Given the description of an element on the screen output the (x, y) to click on. 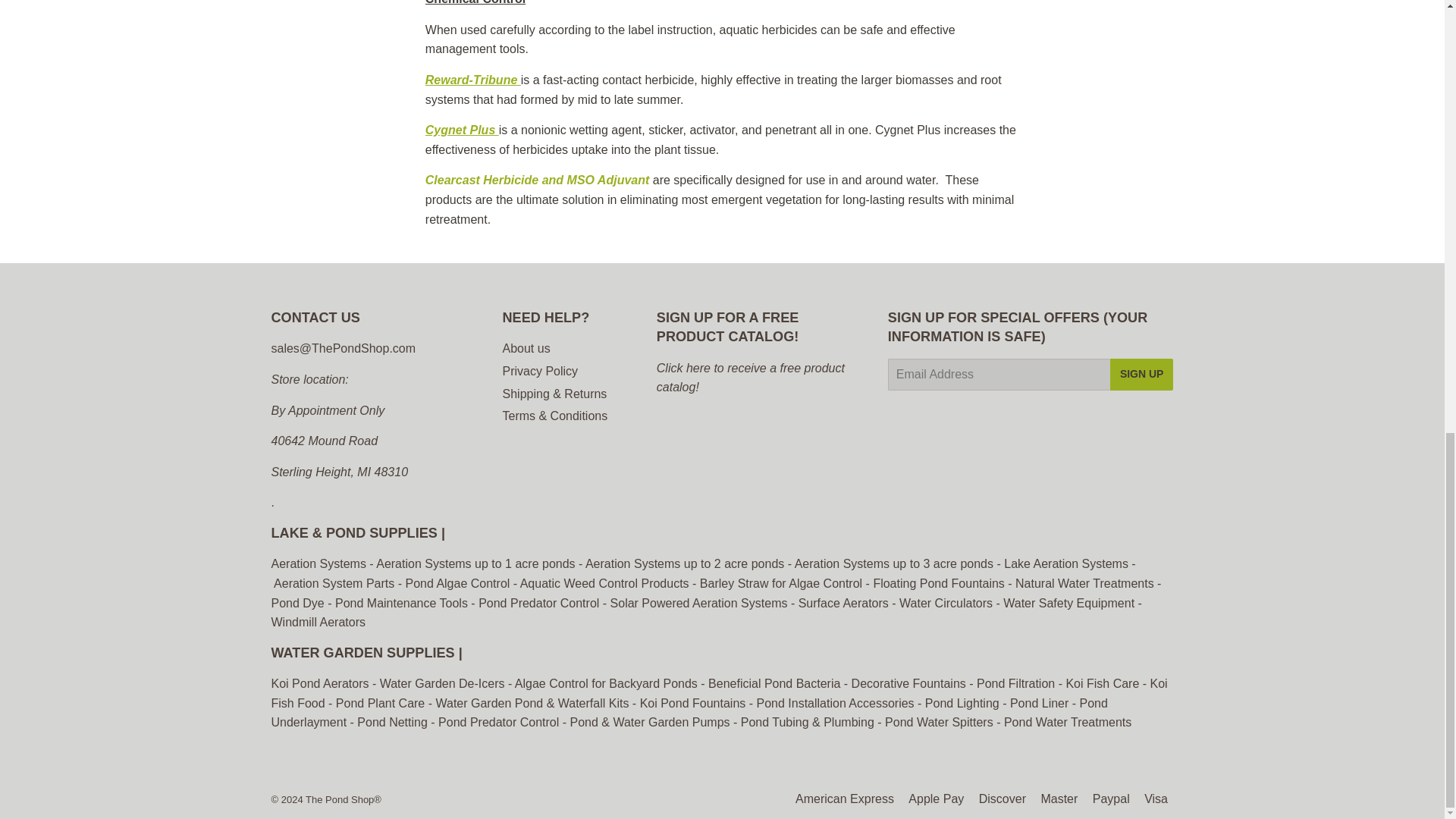
Predator Control (538, 603)
Natural Water Treatments (1084, 583)
Lake Aeration Systems (1066, 563)
Solar Powered Aerators (698, 603)
Floating Pond Fountains (940, 583)
Pond Dye (297, 603)
Barley Straw (780, 583)
Pond Maintenance Tools (400, 603)
Aerators up to 2 acres (684, 563)
Algae Control (458, 583)
Catalog Request (750, 377)
Aerators up to 3 acres (893, 563)
Aquatic Weed Control Products (606, 583)
Aerators up to 1 acres (476, 563)
Aeration System Parts (333, 583)
